Given the description of an element on the screen output the (x, y) to click on. 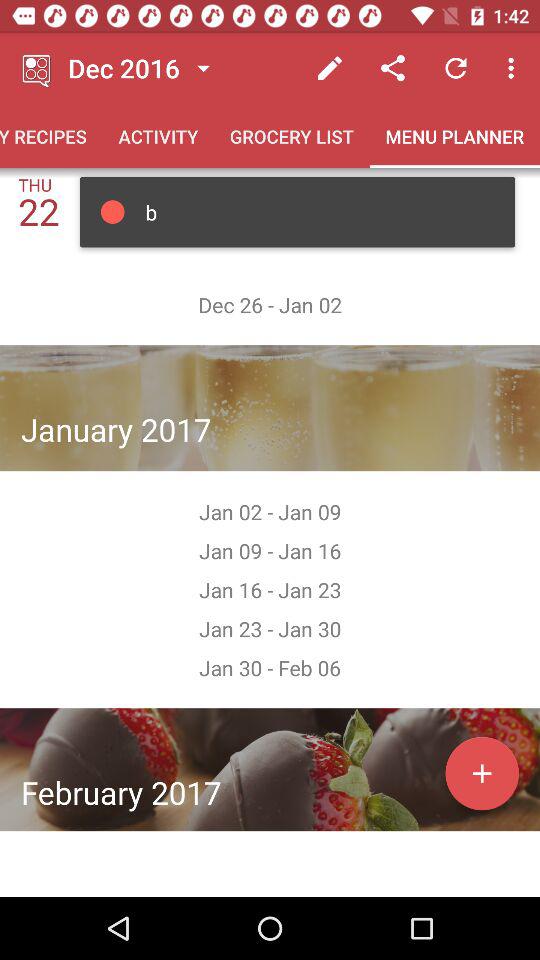
add more (482, 773)
